Given the description of an element on the screen output the (x, y) to click on. 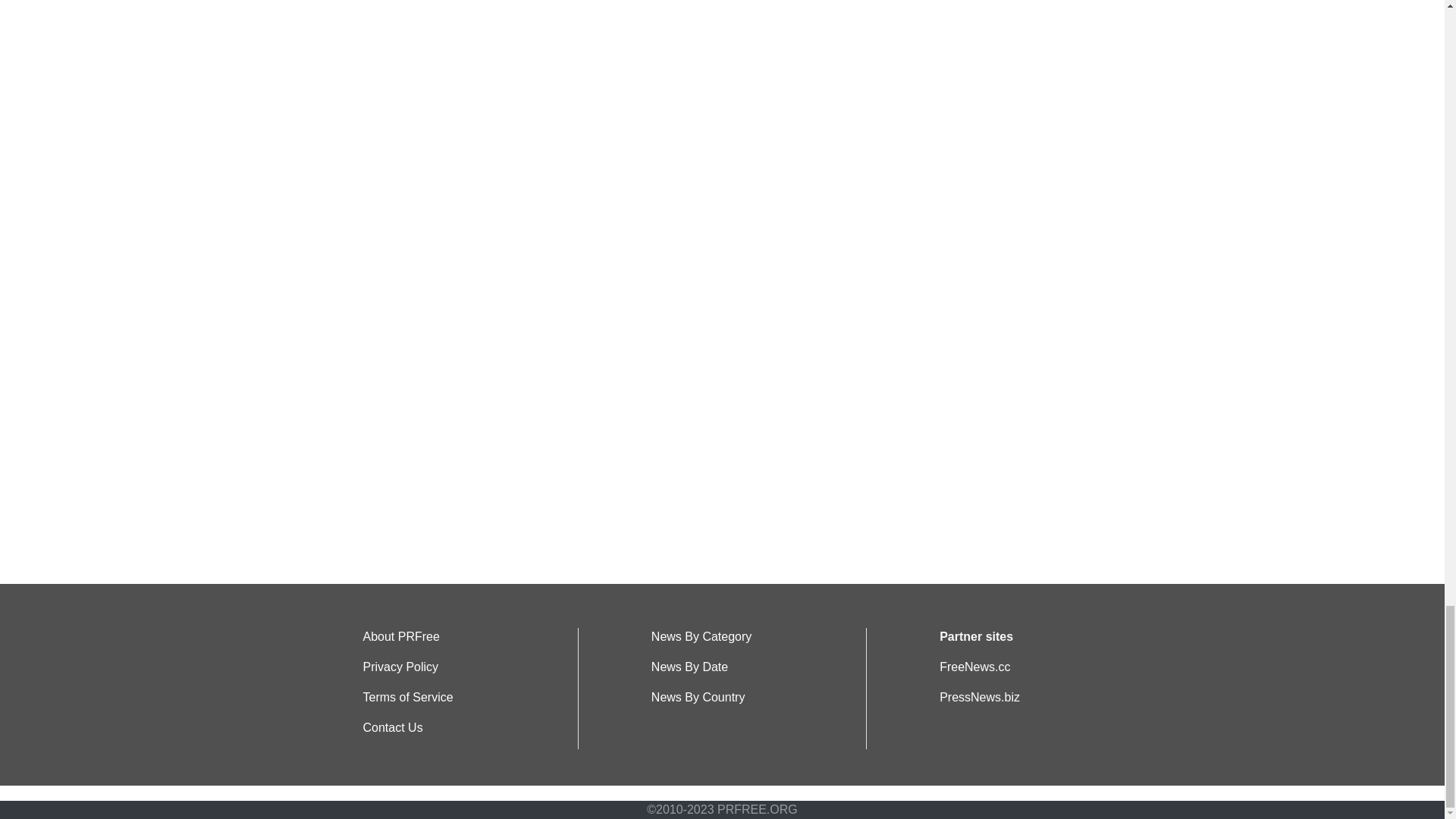
Terms of Service (407, 697)
Contact Us (392, 727)
About PRFree (400, 635)
Privacy Policy (400, 666)
